Given the description of an element on the screen output the (x, y) to click on. 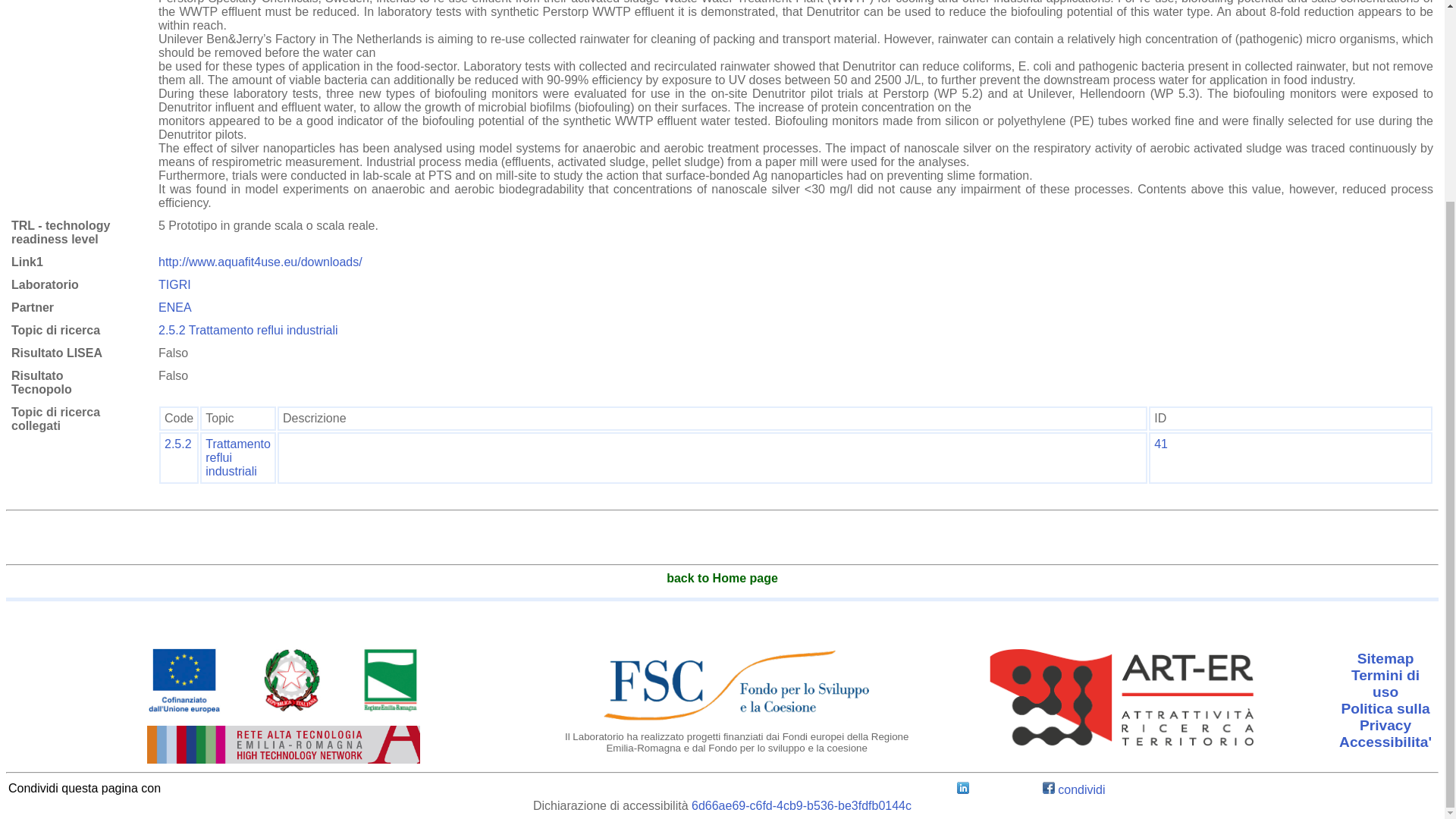
Home tecnopolo (721, 577)
2.5.2 (178, 443)
Click per ZOOM della riga (178, 443)
Link to 'Accessibilita''  (1385, 742)
41 (1160, 443)
TIGRI (174, 284)
6d66ae69-c6fd-4cb9-b536-be3fdfb0144c (801, 805)
Link to 'Sitemap'  (1384, 658)
Link to 'Politica sulla Privacy'  (1384, 717)
condividi (1073, 789)
Click per ZOOM della riga (237, 457)
ENEA (175, 307)
back to Home page (721, 577)
Trattamento reflui industriali (237, 457)
Politica sulla Privacy (1384, 717)
